Given the description of an element on the screen output the (x, y) to click on. 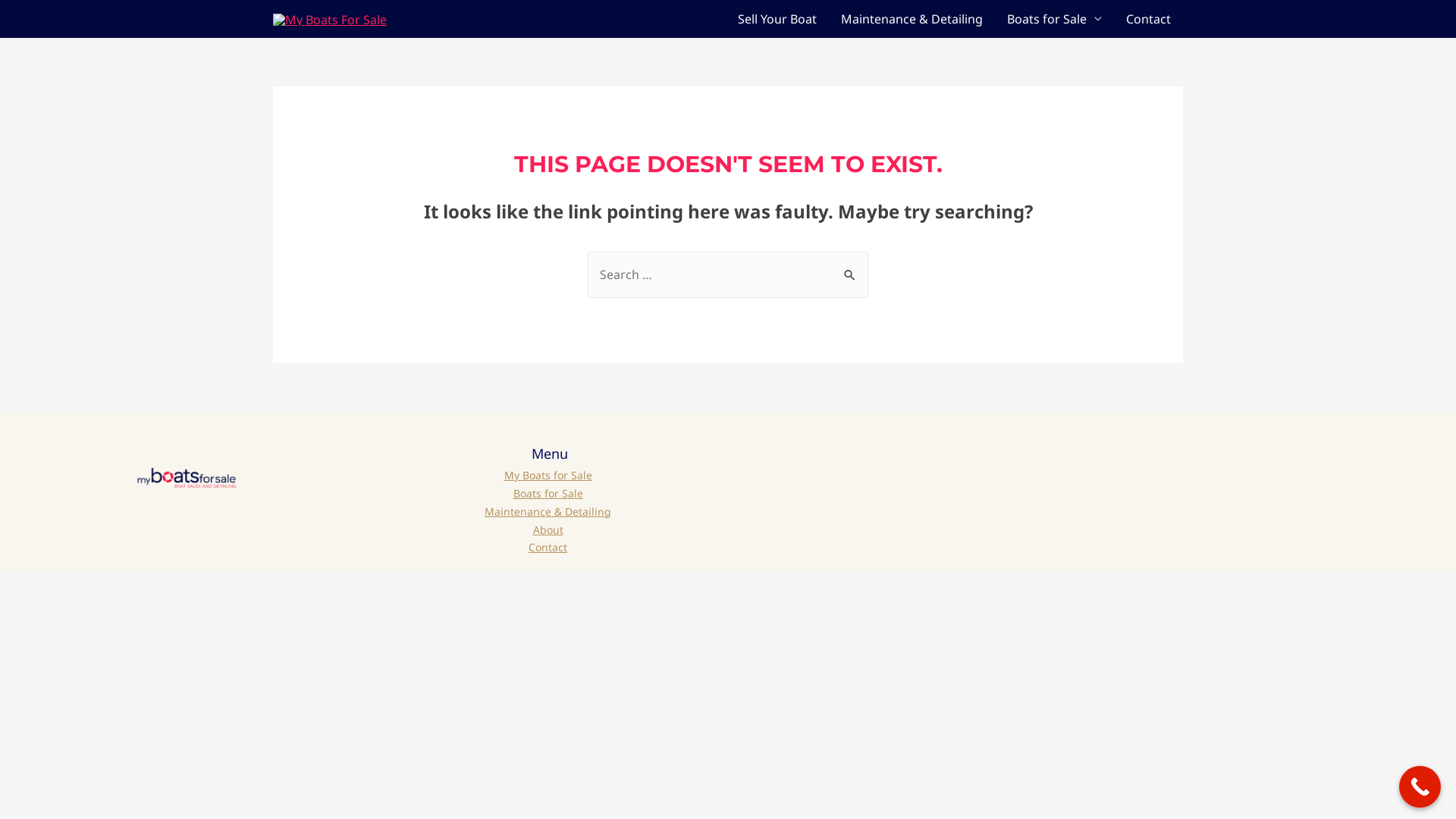
Maintenance & Detailing Element type: text (911, 18)
Search Element type: text (851, 266)
Contact Element type: text (1148, 18)
My Boats for Sale Element type: text (547, 475)
About Element type: text (547, 529)
Sell Your Boat Element type: text (776, 18)
Maintenance & Detailing Element type: text (547, 511)
Boats for Sale Element type: text (547, 493)
Boats for Sale Element type: text (1053, 18)
Contact Element type: text (547, 547)
